Given the description of an element on the screen output the (x, y) to click on. 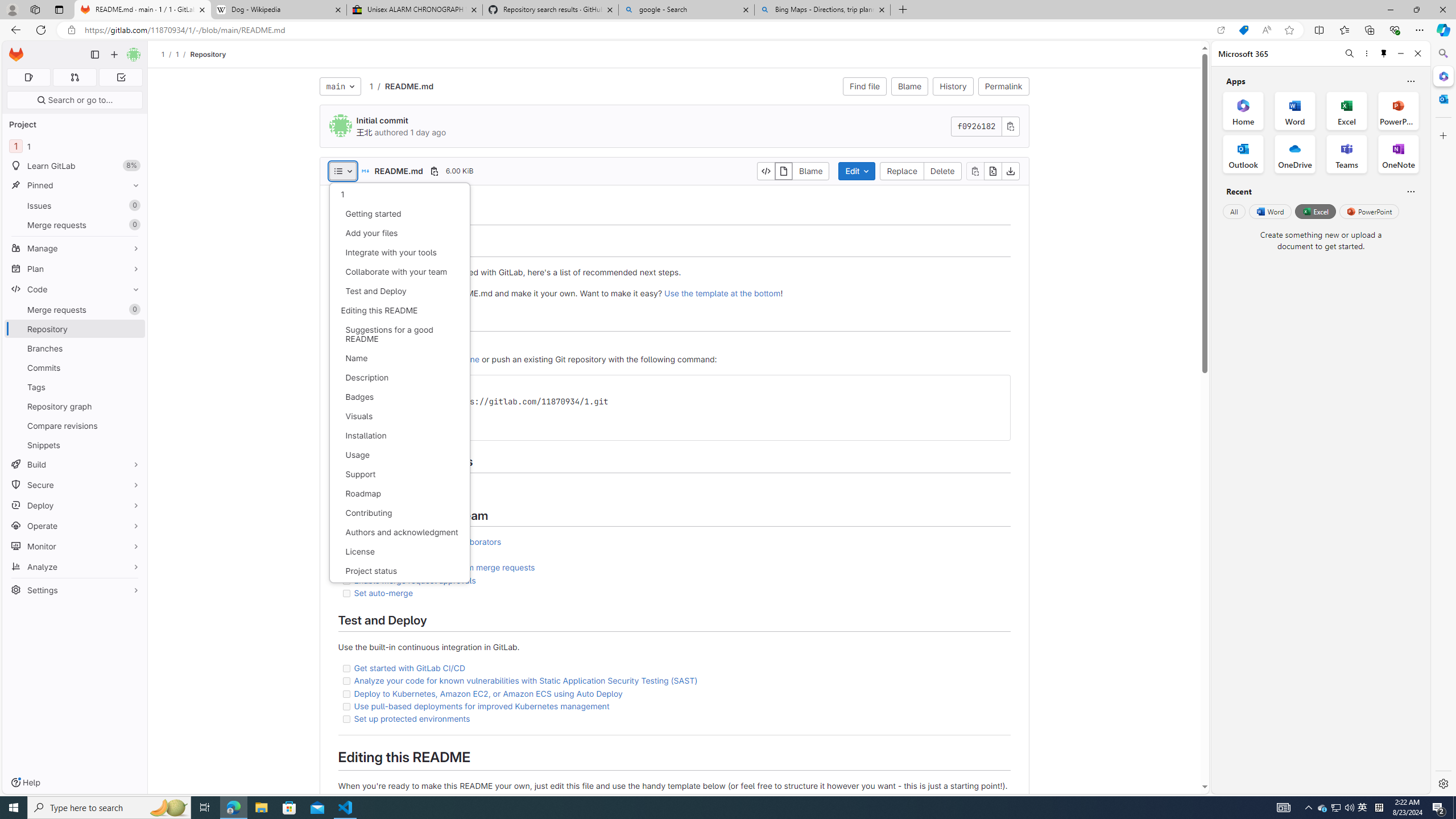
Set up protected environments (411, 718)
Commits (74, 367)
Pinned (74, 185)
Secure (74, 484)
Set auto-merge (673, 593)
Open raw (991, 171)
1 (399, 194)
Usage (399, 454)
Roadmap (399, 493)
Visuals (399, 416)
Secure (74, 484)
Copy commit SHA (1010, 126)
